Given the description of an element on the screen output the (x, y) to click on. 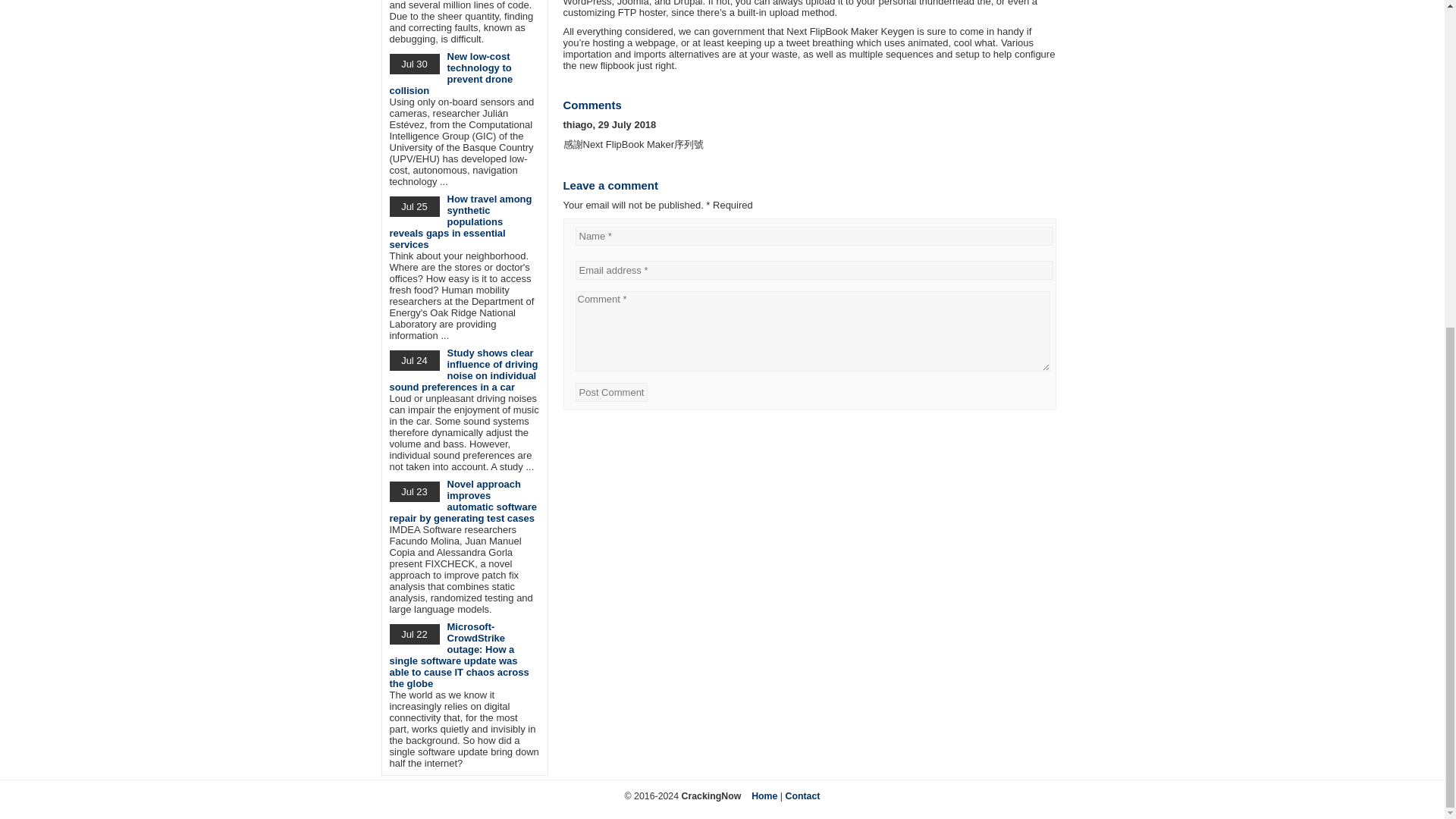
Post Comment (611, 392)
New low-cost technology to prevent drone collision (451, 73)
Home (764, 796)
Post Comment (611, 392)
Contact (803, 796)
